Given the description of an element on the screen output the (x, y) to click on. 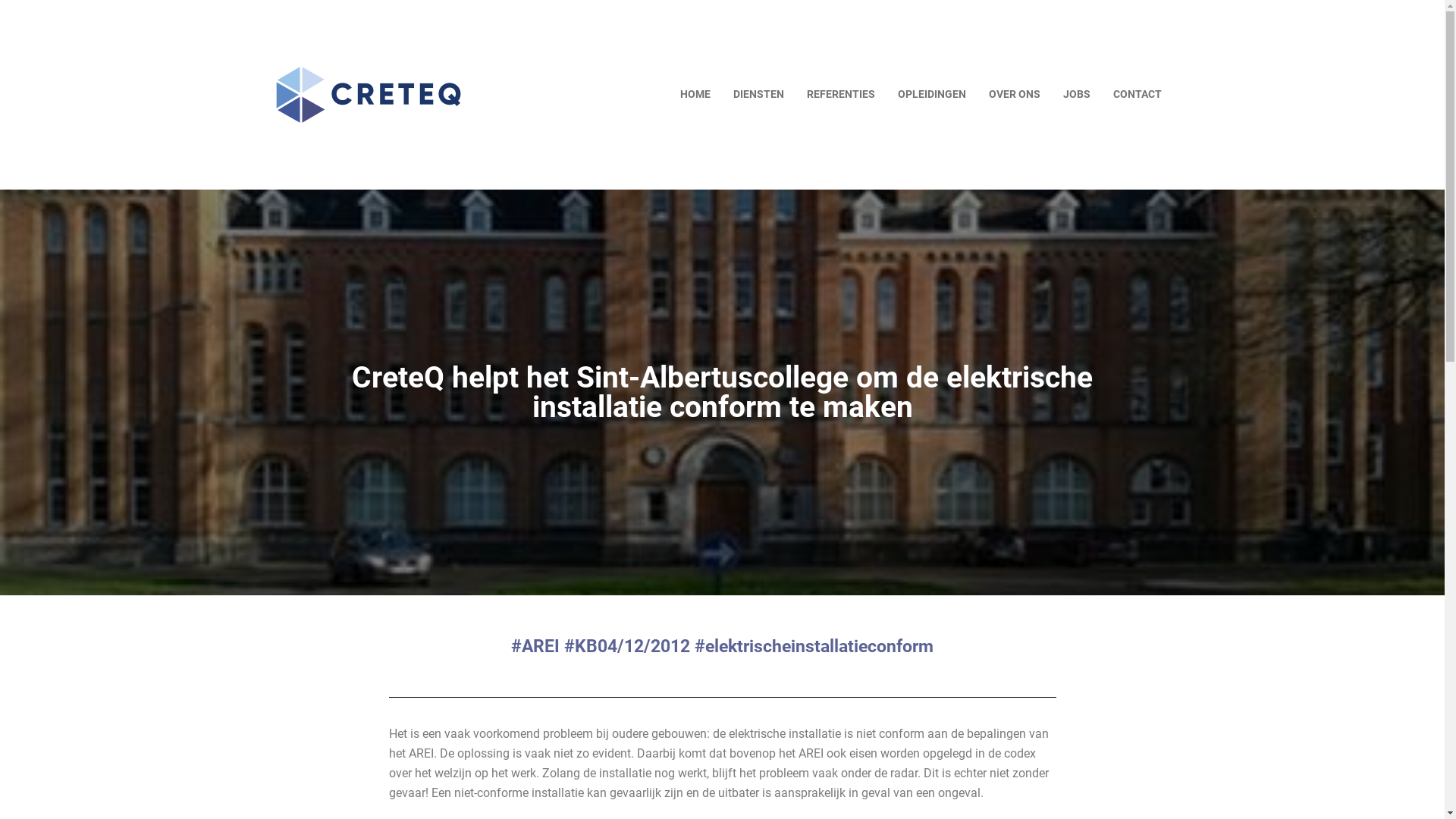
OVER ONS Element type: text (1013, 94)
CONTACT Element type: text (1136, 94)
DIENSTEN Element type: text (758, 94)
HOME Element type: text (695, 94)
OPLEIDINGEN Element type: text (931, 94)
REFERENTIES Element type: text (840, 94)
JOBS Element type: text (1075, 94)
